Given the description of an element on the screen output the (x, y) to click on. 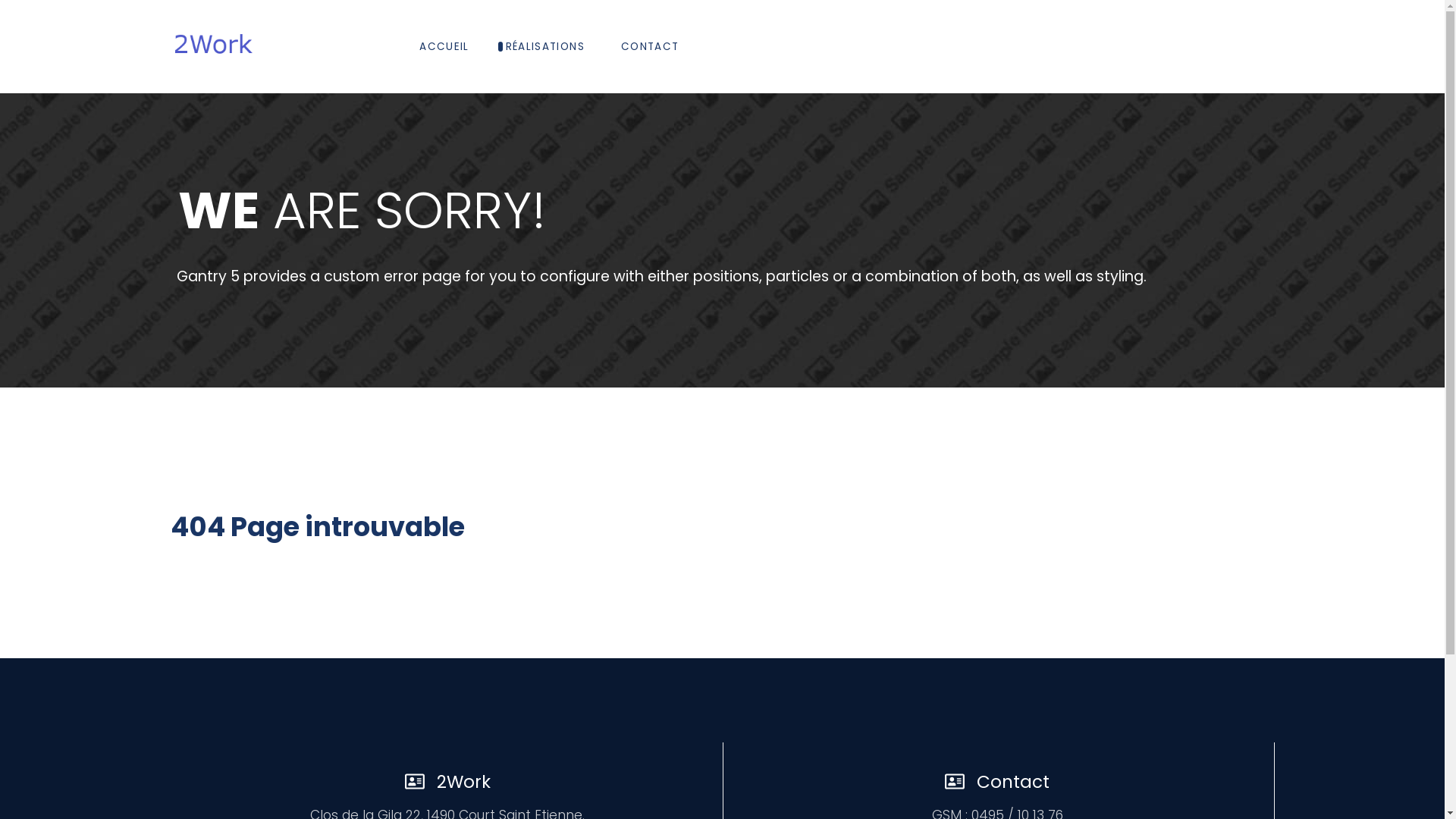
ACCUEIL Element type: text (443, 46)
CONTACT Element type: text (649, 46)
2Work Element type: hover (211, 46)
